Given the description of an element on the screen output the (x, y) to click on. 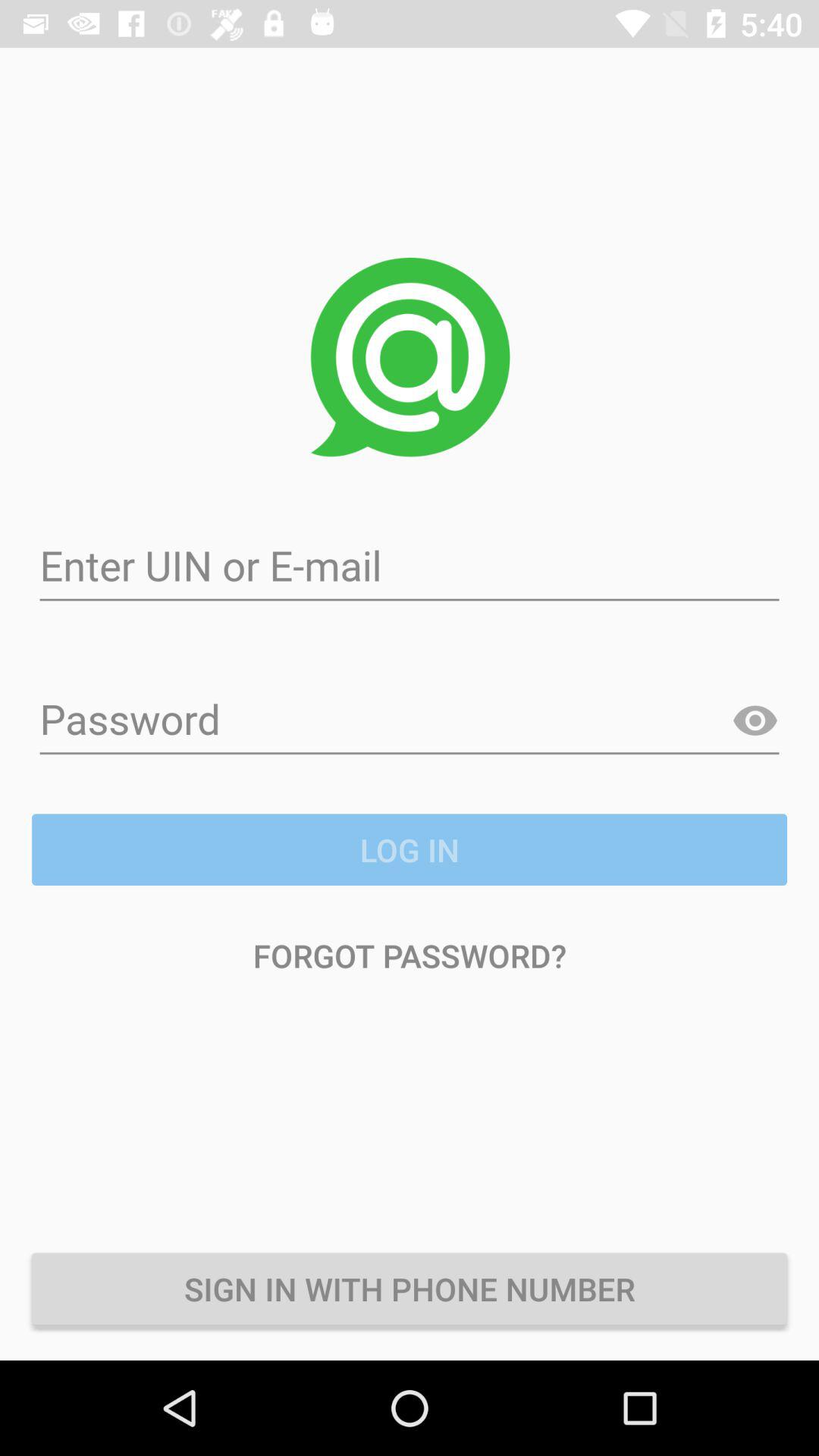
press icon above the forgot password? item (409, 849)
